Given the description of an element on the screen output the (x, y) to click on. 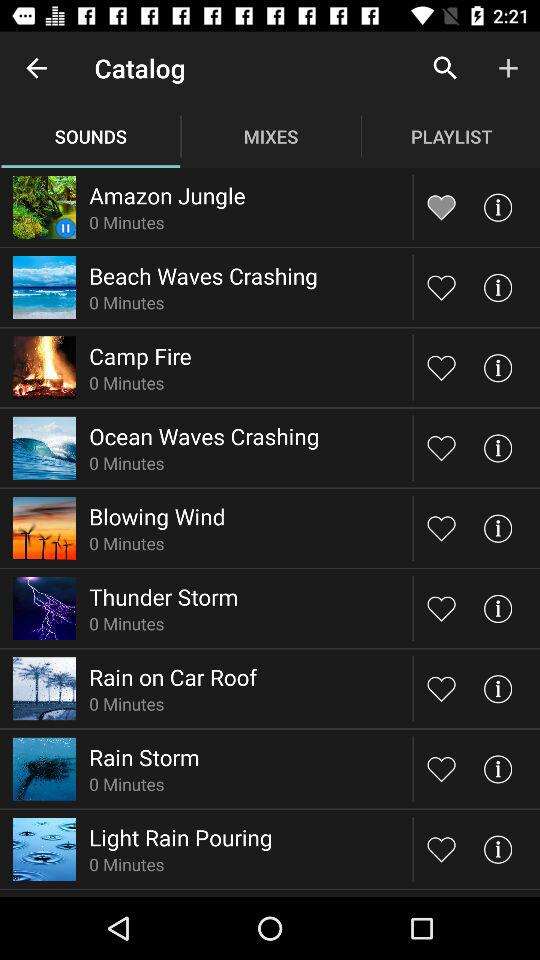
press the icon next to catalog item (36, 68)
